Given the description of an element on the screen output the (x, y) to click on. 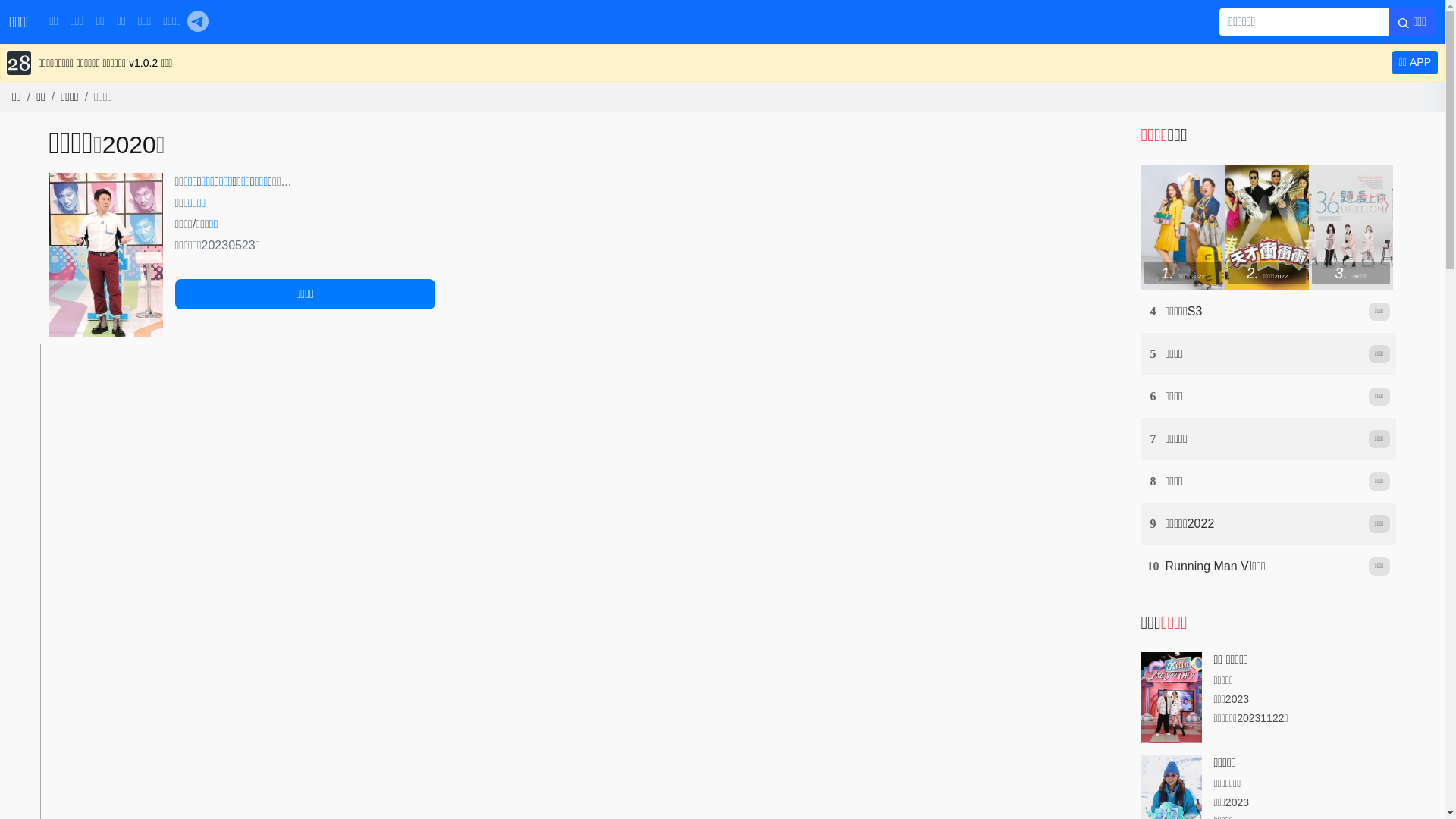
2020 Element type: text (129, 144)
